Given the description of an element on the screen output the (x, y) to click on. 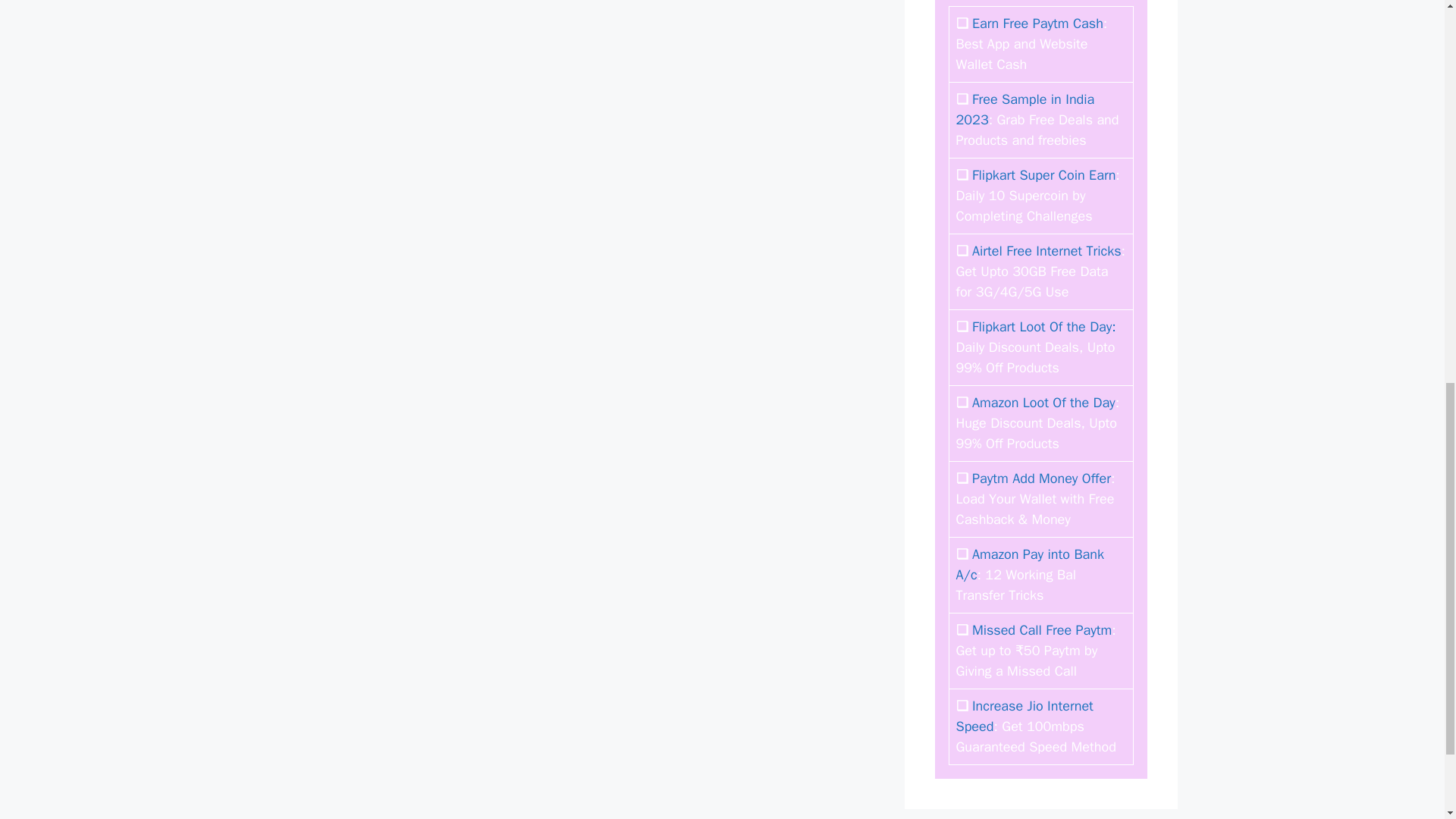
Earn Free Paytm Cash (1037, 23)
Amazon Loot Of the Day (1043, 402)
Paytm Add Money Offer (1041, 478)
Airtel Free Internet Tricks (1046, 250)
Flipkart Loot Of the Day: (1044, 326)
Flipkart Super Coin Earn (1043, 175)
Increase Jio Internet Speed (1024, 715)
Free Sample in India 2023 (1024, 108)
Missed Call Free Paytm (1042, 629)
